Given the description of an element on the screen output the (x, y) to click on. 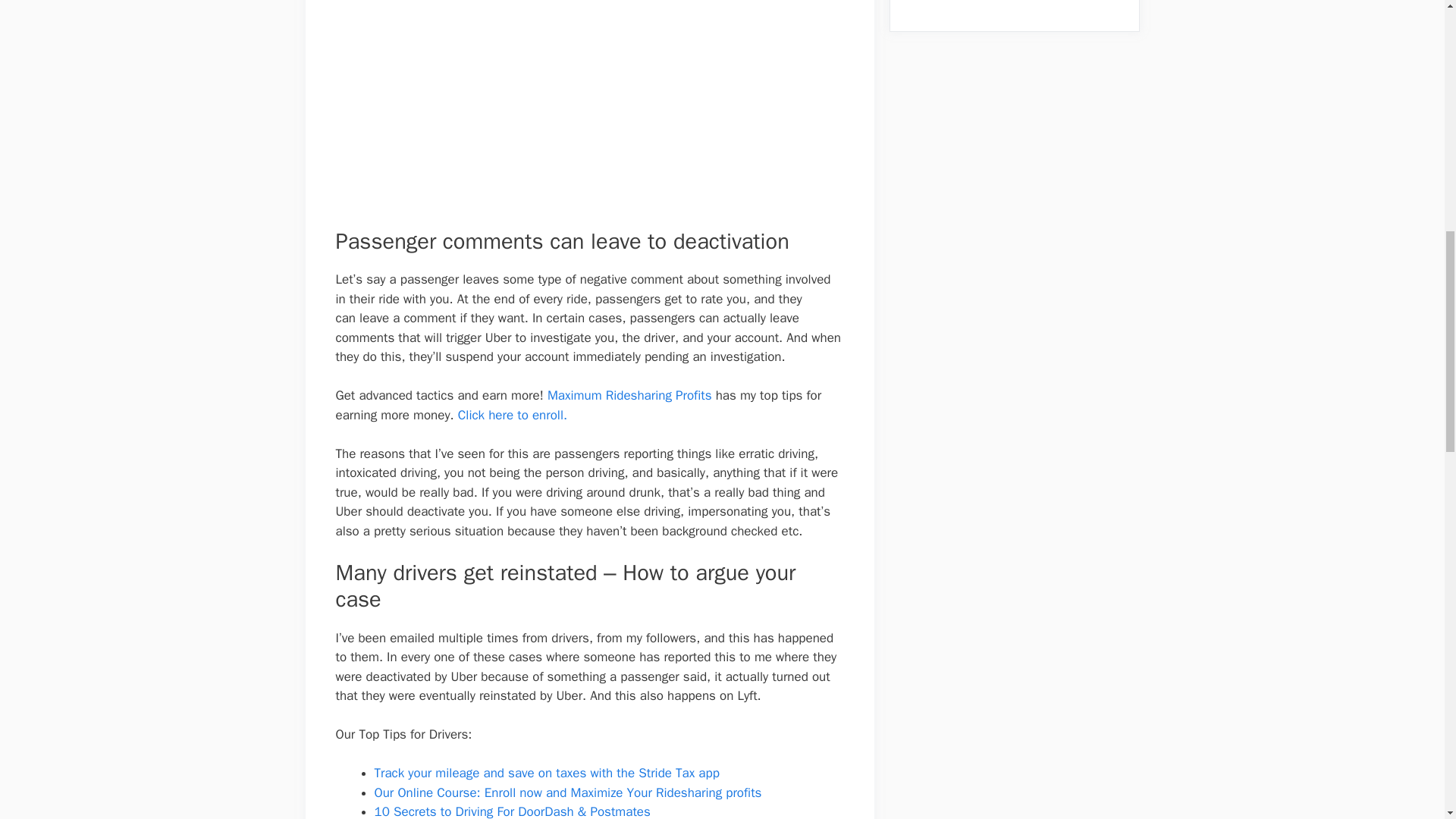
Click here to enroll. (512, 415)
Maximum Ridesharing Profits (629, 395)
Track your mileage and save on taxes with the Stride Tax app (546, 772)
